Given the description of an element on the screen output the (x, y) to click on. 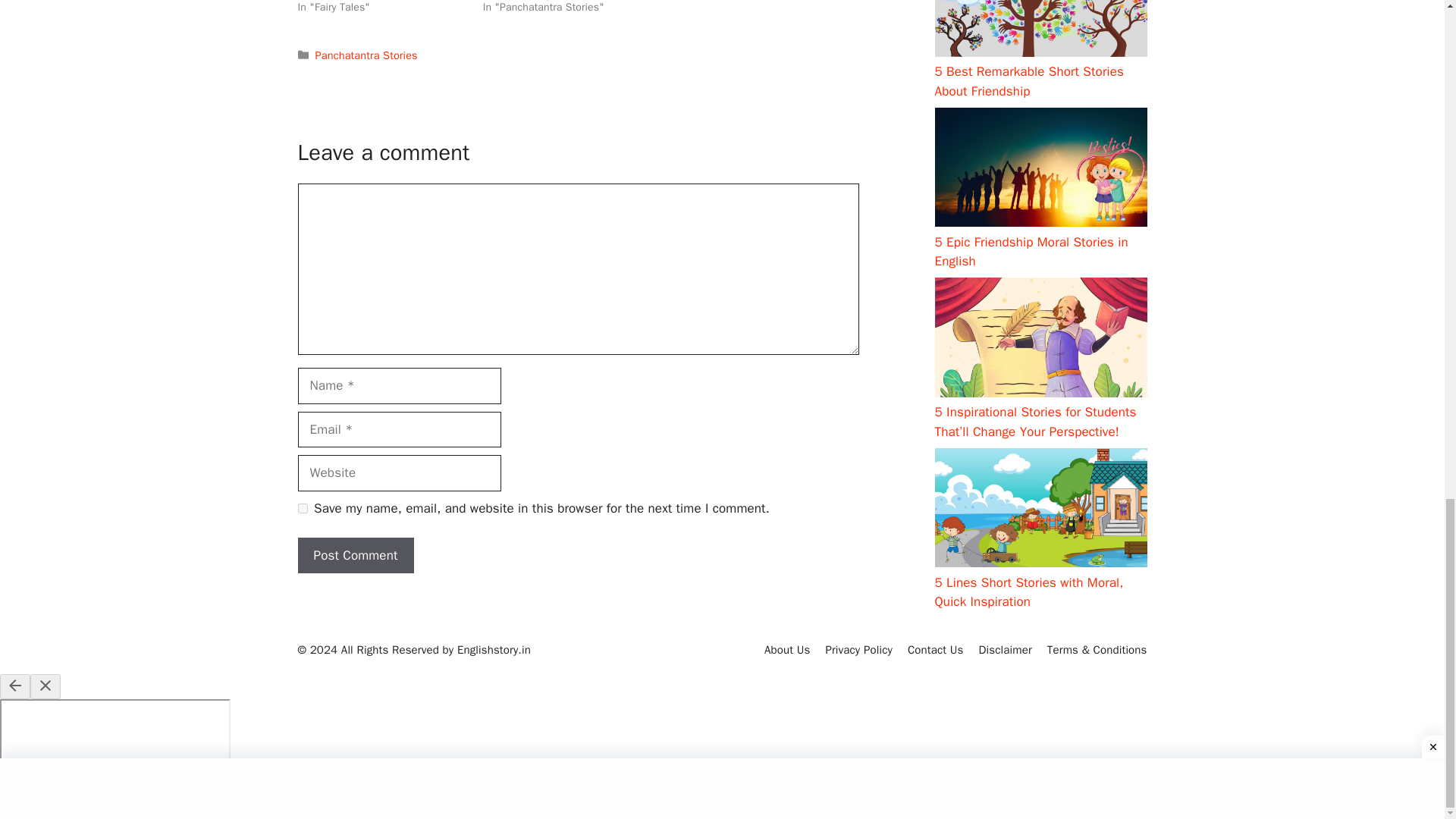
Post Comment (355, 555)
Contact Us (935, 649)
Disclaimer (1005, 649)
Privacy Policy (858, 649)
yes (302, 508)
About Us (786, 649)
Panchatantra Stories (366, 55)
Post Comment (355, 555)
